Given the description of an element on the screen output the (x, y) to click on. 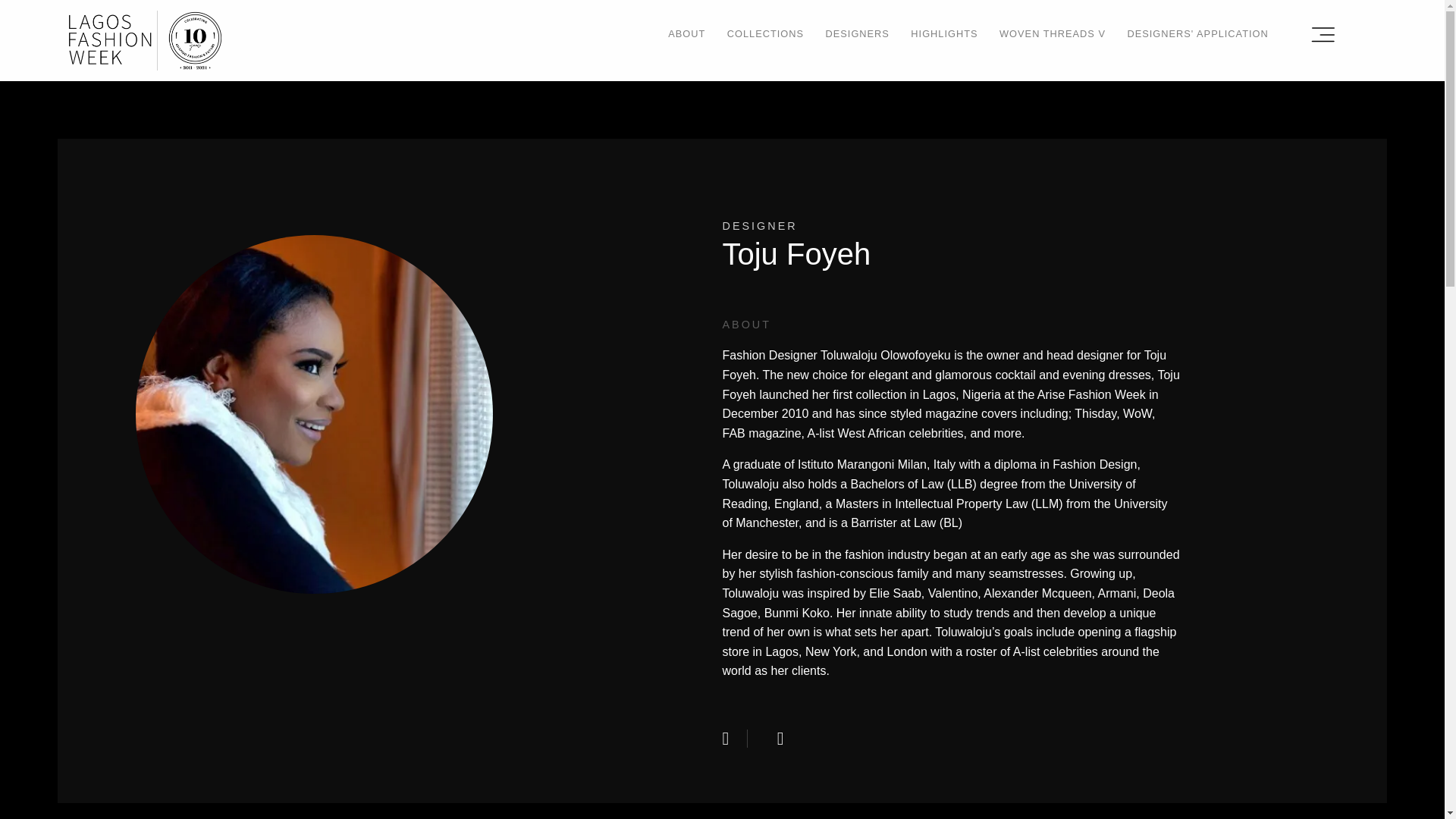
Lagos Fashion Week Home (144, 39)
WOVEN THREADS V (1051, 33)
DESIGNER (759, 225)
ABOUT (686, 33)
Toju Foyeh on Instagram (735, 738)
designers (759, 225)
DESIGNERS' APPLICATION (1197, 33)
Toju Foyeh's email' (786, 738)
COLLECTIONS (764, 33)
DESIGNERS (857, 33)
